Given the description of an element on the screen output the (x, y) to click on. 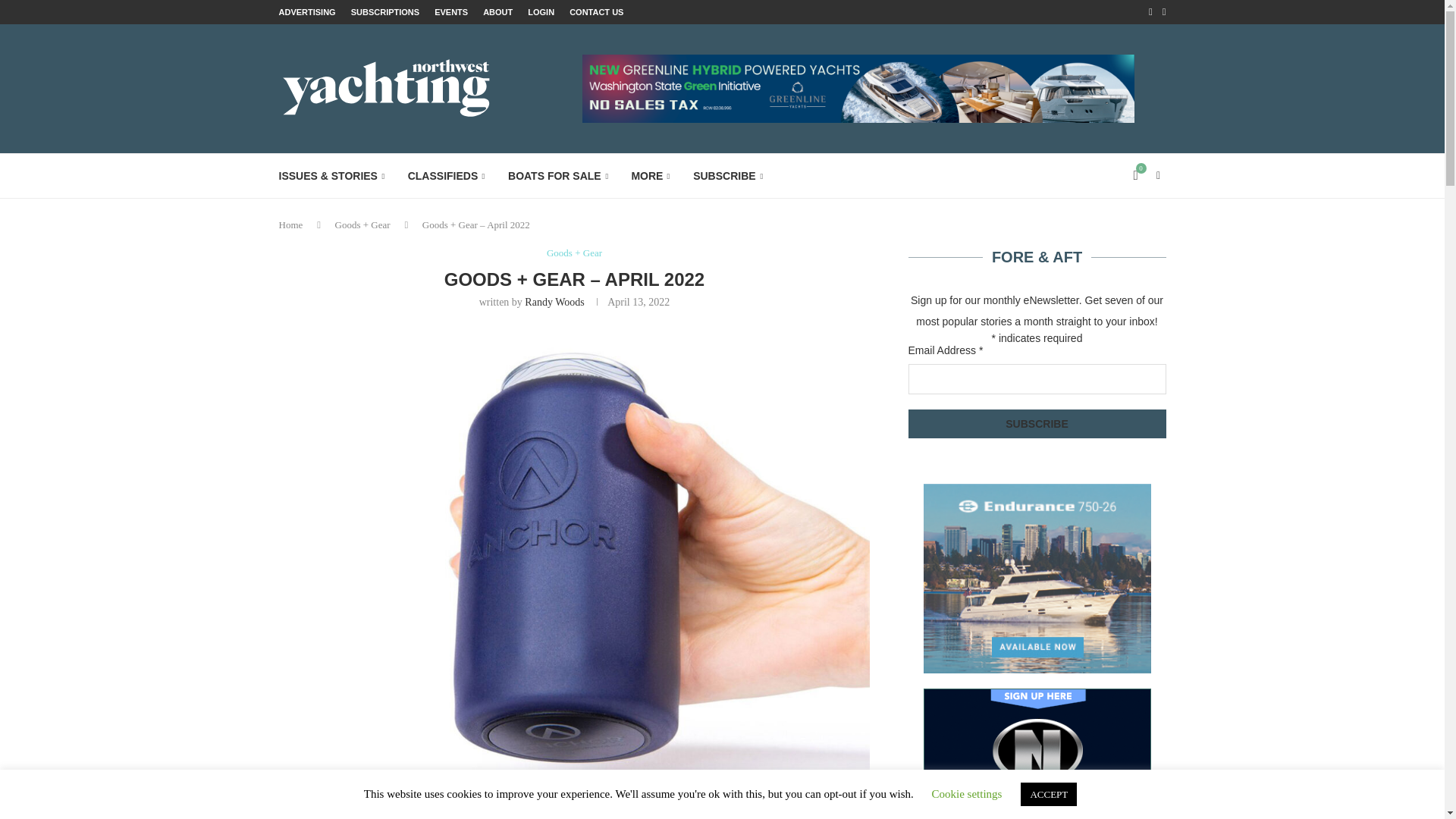
Subscribe (1037, 423)
EVENTS (450, 12)
ABOUT (497, 12)
BOATS FOR SALE (558, 176)
ADVERTISING (307, 12)
CONTACT US (596, 12)
CLASSIFIEDS (445, 176)
LOGIN (540, 12)
SUBSCRIPTIONS (384, 12)
